Given the description of an element on the screen output the (x, y) to click on. 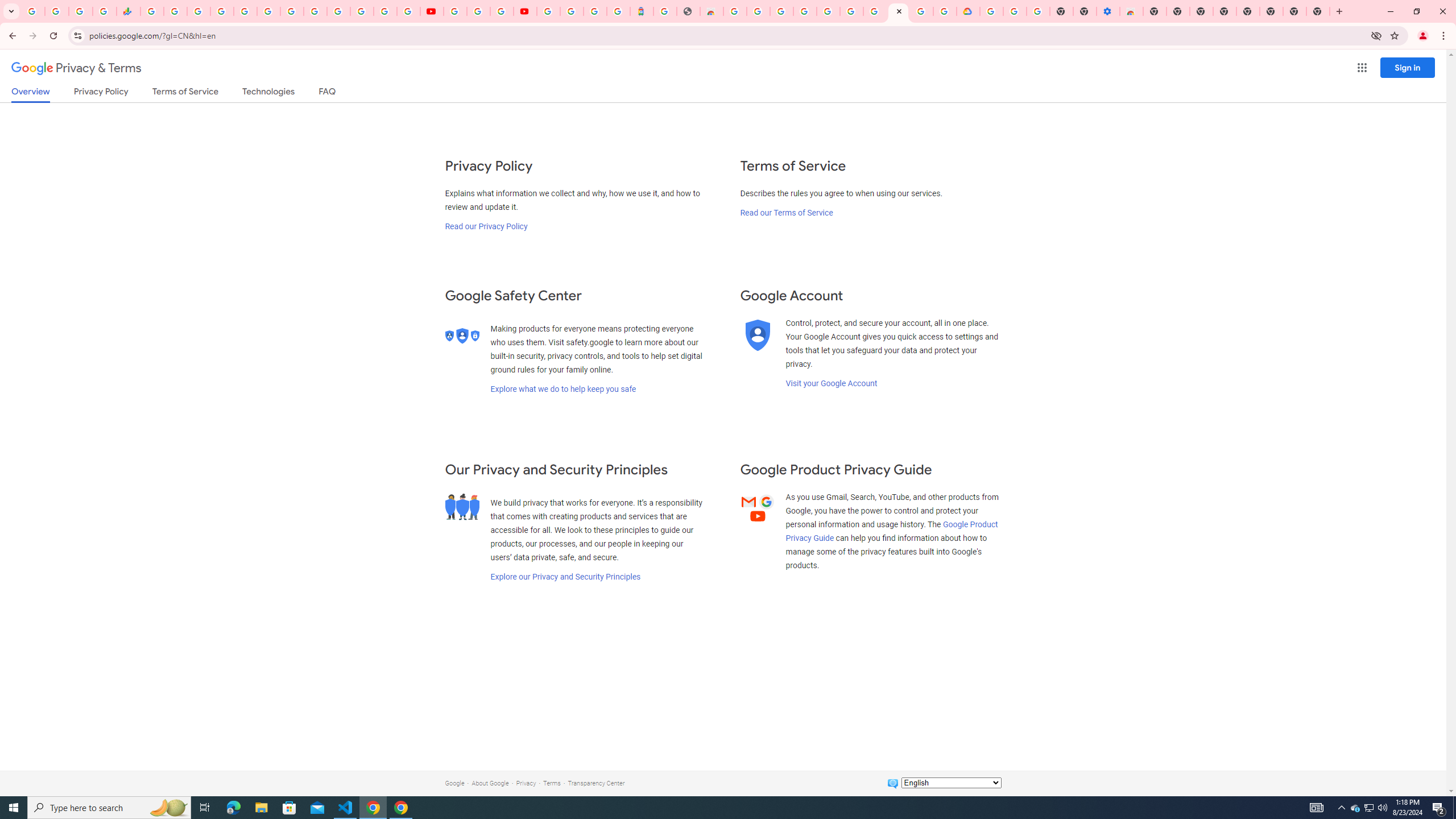
Sign in - Google Accounts (221, 11)
Create your Google Account (921, 11)
Read our Privacy Policy (485, 226)
Create your Google Account (501, 11)
YouTube (431, 11)
Transparency Center (595, 783)
Content Creator Programs & Opportunities - YouTube Creators (524, 11)
Change language: (951, 782)
Sign in - Google Accounts (827, 11)
New Tab (1318, 11)
